Given the description of an element on the screen output the (x, y) to click on. 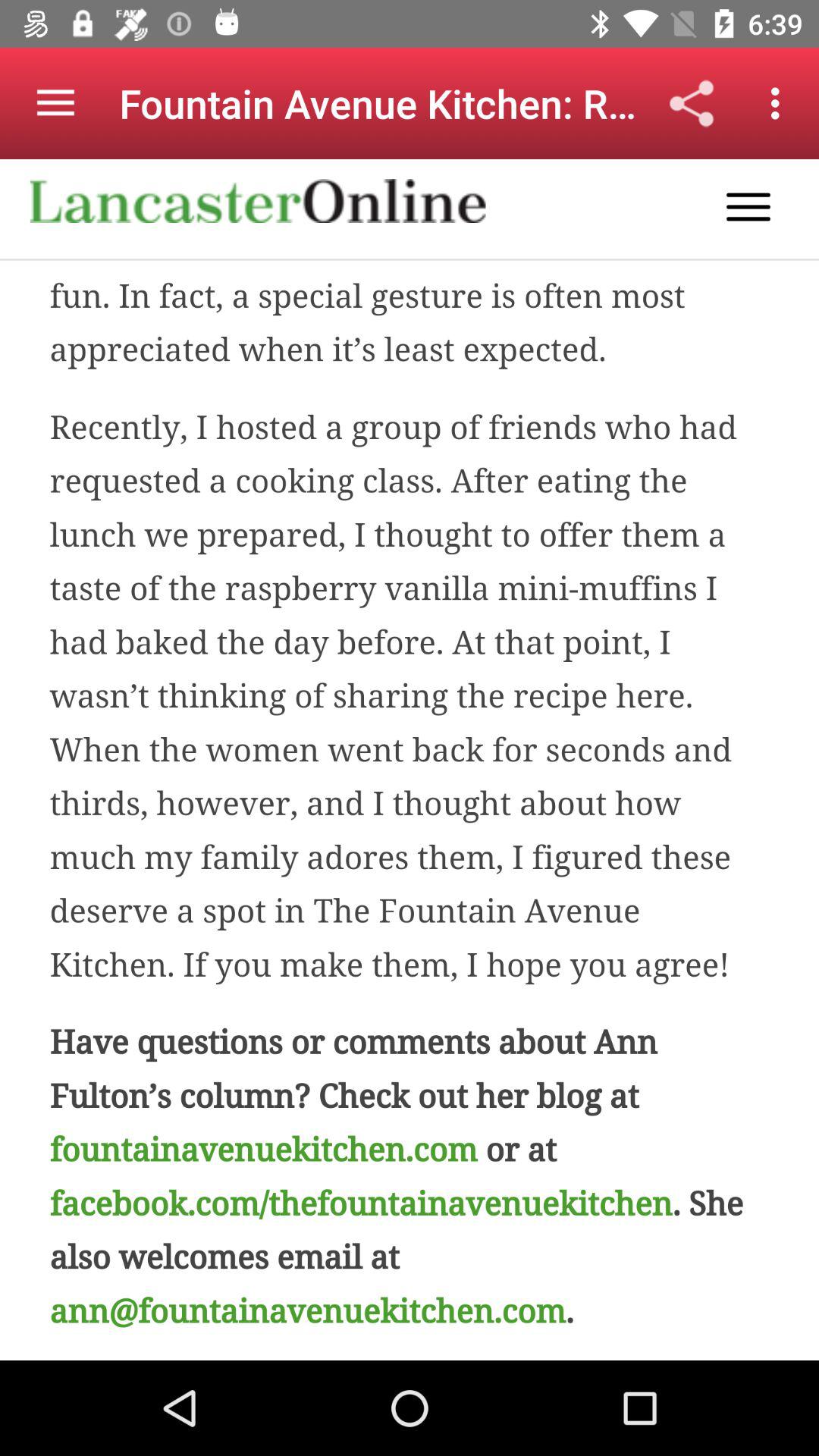
advertisement (409, 759)
